Given the description of an element on the screen output the (x, y) to click on. 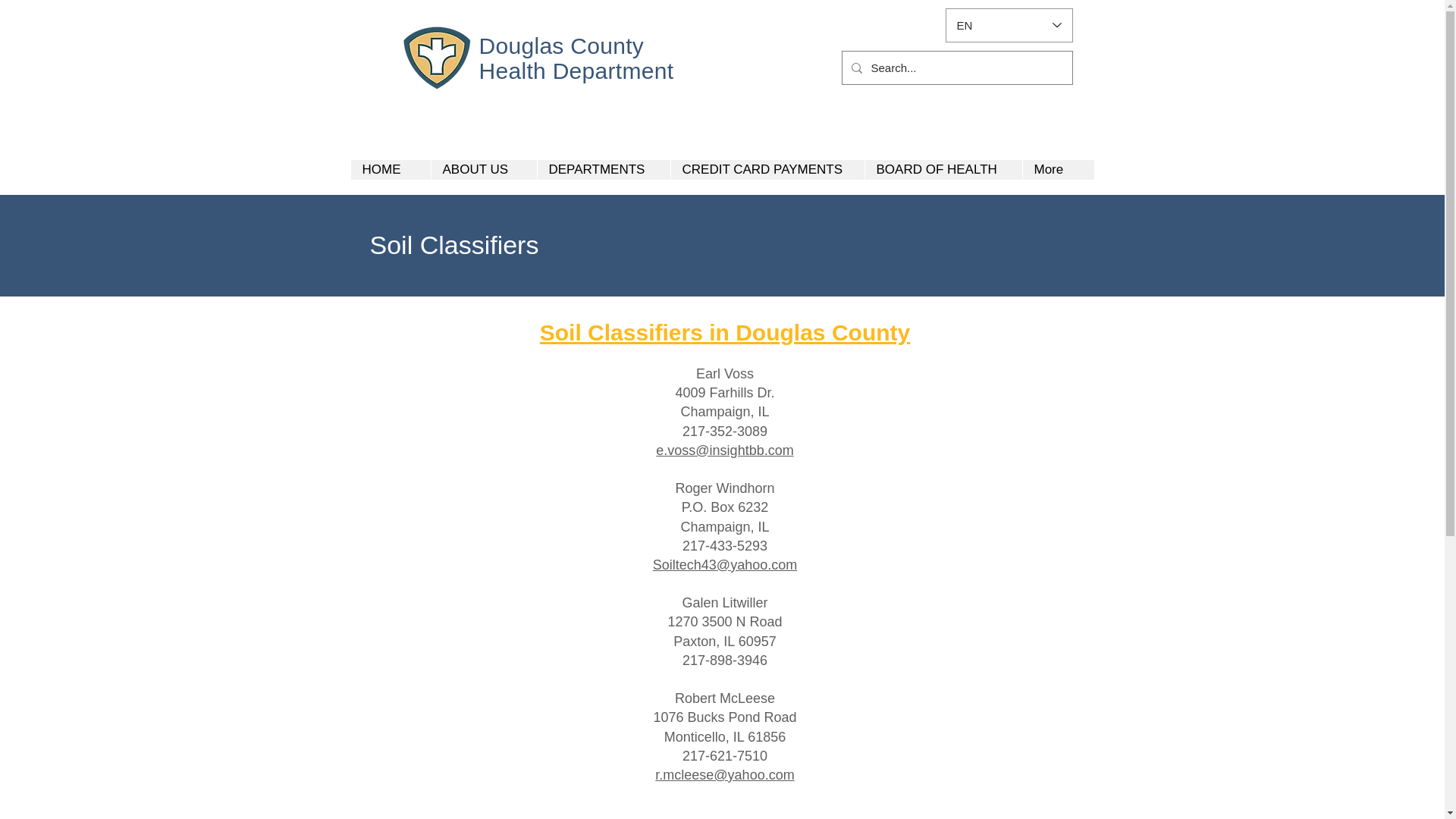
ABOUT US (483, 169)
BOARD OF HEALTH (943, 169)
DEPARTMENTS (603, 169)
HOME (389, 169)
CREDIT CARD PAYMENTS (766, 169)
